Given the description of an element on the screen output the (x, y) to click on. 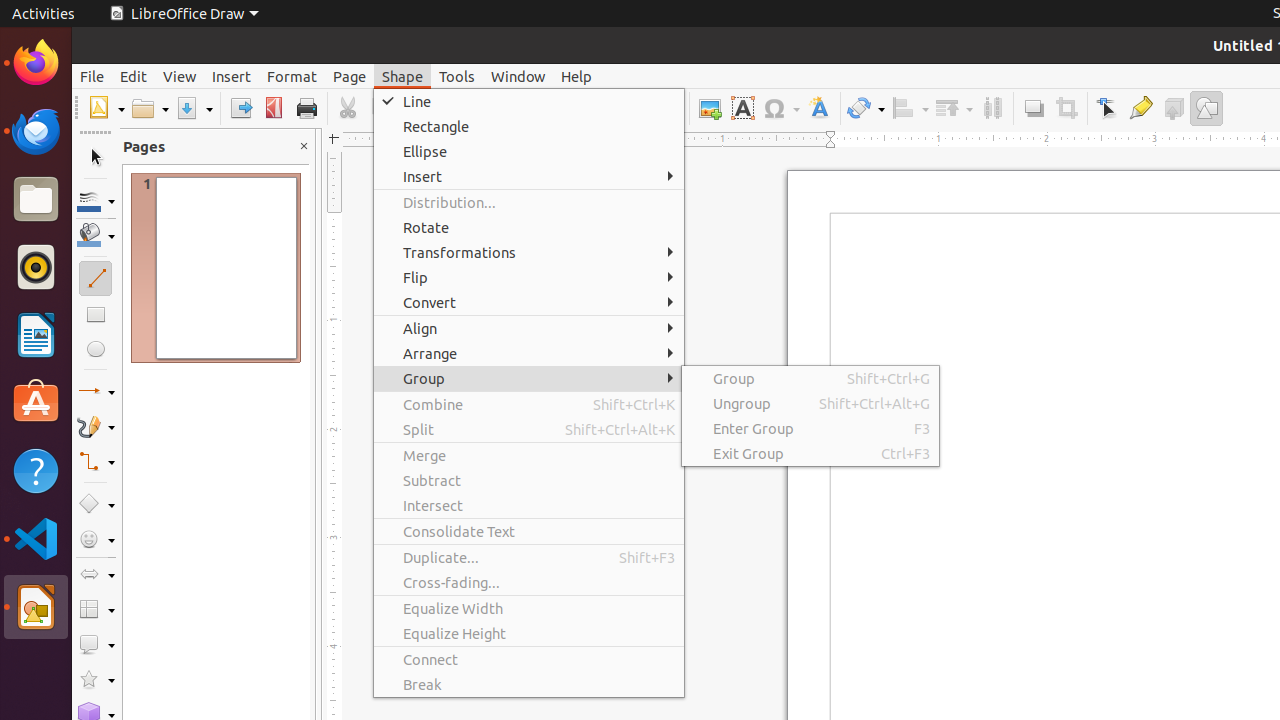
Select Element type: push-button (95, 157)
Distribution Element type: push-button (992, 108)
Subtract Element type: menu-item (529, 480)
Ungroup Element type: menu-item (810, 402)
